Given the description of an element on the screen output the (x, y) to click on. 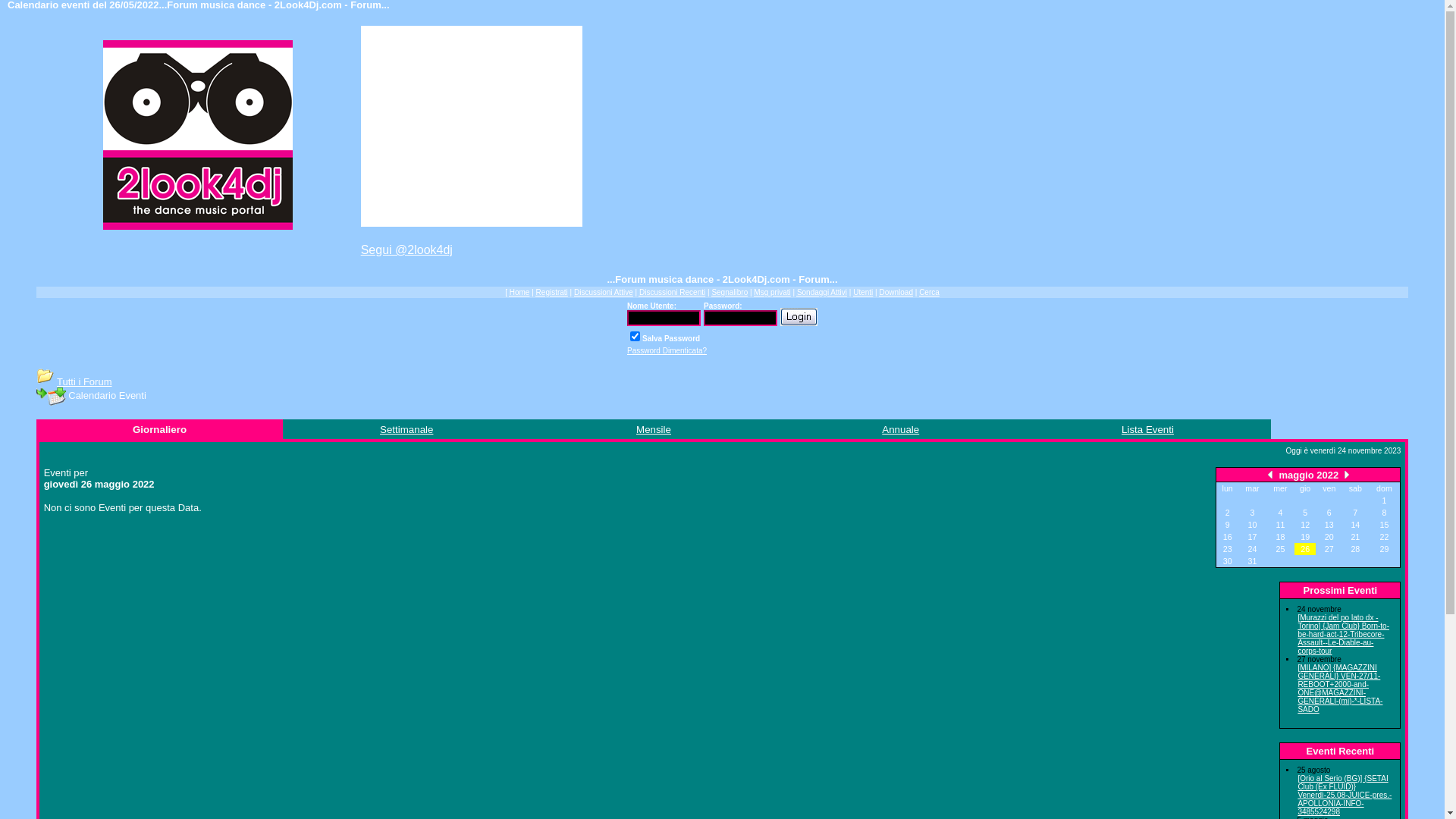
21 Element type: text (1354, 536)
Tutti i Forum Element type: text (83, 381)
18 Element type: text (1279, 536)
16 Element type: text (1227, 536)
Annuale Element type: text (900, 428)
26 Element type: text (1304, 548)
Download Element type: text (895, 292)
Home Element type: text (519, 292)
28 Element type: text (1354, 548)
9 Element type: text (1227, 524)
24 Element type: text (1252, 548)
Mese Successivo Element type: hover (1346, 473)
Segui @2look4dj Element type: text (406, 249)
Segnalibro Element type: text (729, 292)
12 Element type: text (1304, 524)
Mese Successivo Element type: hover (1346, 474)
15 Element type: text (1384, 524)
29 Element type: text (1384, 548)
7 Element type: text (1354, 512)
3 Element type: text (1251, 512)
Settimanale Element type: text (406, 428)
27 Element type: text (1328, 548)
6 Element type: text (1329, 512)
Lista Eventi Element type: text (1147, 428)
Mese Precedente Element type: hover (1269, 473)
8 Element type: text (1384, 512)
Discussioni Attive Element type: text (603, 292)
...Forum musica dance - 2Look4Dj.com - Forum... Element type: hover (197, 134)
25 Element type: text (1279, 548)
maggio 2022 Element type: text (1309, 473)
14 Element type: text (1354, 524)
30 Element type: text (1227, 560)
2 Element type: text (1227, 512)
4 Element type: text (1279, 512)
13 Element type: text (1328, 524)
Mensile Element type: text (653, 428)
17 Element type: text (1252, 536)
1 Element type: text (1384, 500)
Password Dimenticata? Element type: text (666, 350)
31 Element type: text (1252, 560)
20 Element type: text (1328, 536)
Mese Precedente Element type: hover (1269, 474)
Utenti Element type: text (862, 292)
5 Element type: text (1304, 512)
Sondaggi Attivi Element type: text (822, 292)
23 Element type: text (1227, 548)
19 Element type: text (1304, 536)
Registrati Element type: text (551, 292)
22 Element type: text (1384, 536)
Cerca Element type: text (929, 292)
Discussioni Recenti Element type: text (672, 292)
Msg privati Element type: text (771, 292)
10 Element type: text (1252, 524)
11 Element type: text (1279, 524)
